Given the description of an element on the screen output the (x, y) to click on. 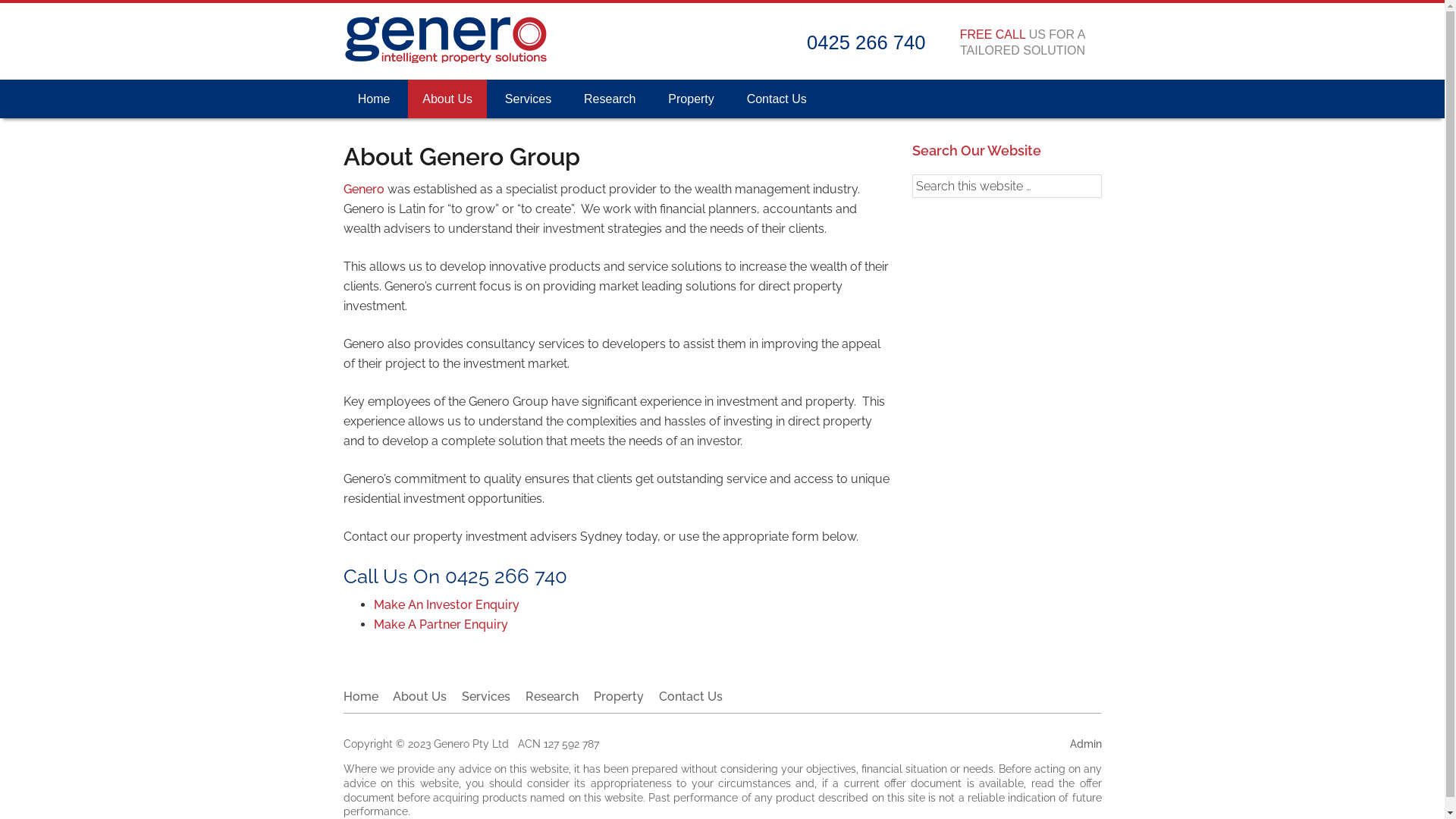
Make A Partner Enquiry Element type: text (440, 624)
About Us Element type: text (446, 98)
Services Element type: text (485, 696)
Admin Element type: text (1085, 743)
Make An Investor Enquiry Element type: text (445, 604)
Research Element type: text (551, 696)
Services Element type: text (528, 98)
Property Element type: text (618, 696)
Research Element type: text (609, 98)
Search Element type: text (1101, 173)
Property Element type: text (690, 98)
Home Element type: text (362, 696)
Genero Element type: text (362, 189)
About Us Element type: text (419, 696)
Genero Group Element type: hover (444, 59)
Contact Us Element type: text (776, 98)
Home Element type: text (373, 98)
Contact Us Element type: text (687, 696)
